Given the description of an element on the screen output the (x, y) to click on. 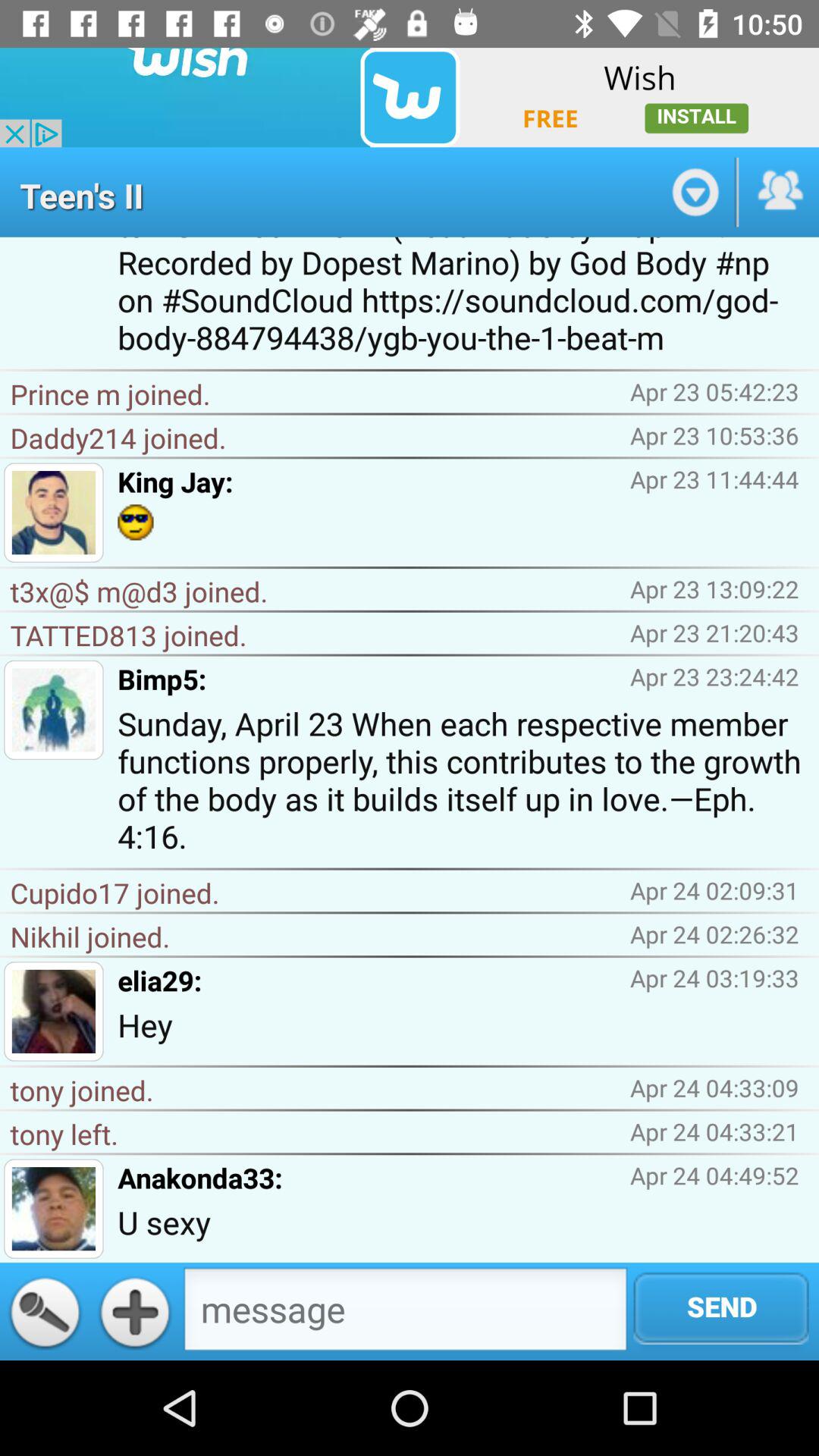
go to messege button (405, 1313)
